Given the description of an element on the screen output the (x, y) to click on. 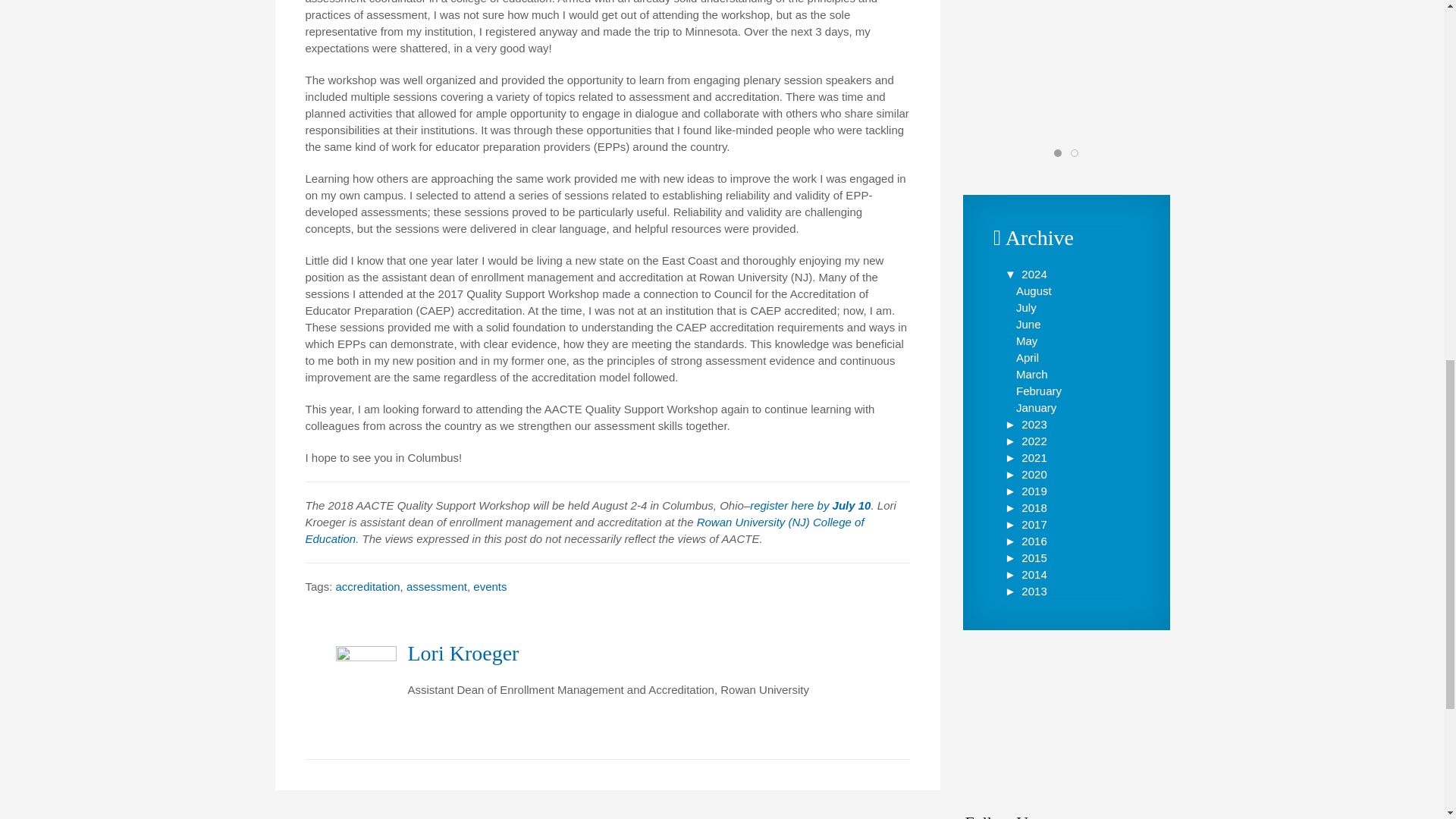
August (1033, 290)
2023 (1025, 423)
Lori Kroeger (463, 653)
2024 (1025, 273)
register here by July 10 (809, 504)
July (1026, 307)
March (1032, 373)
May (1026, 340)
accreditation (368, 585)
February (1038, 390)
